Given the description of an element on the screen output the (x, y) to click on. 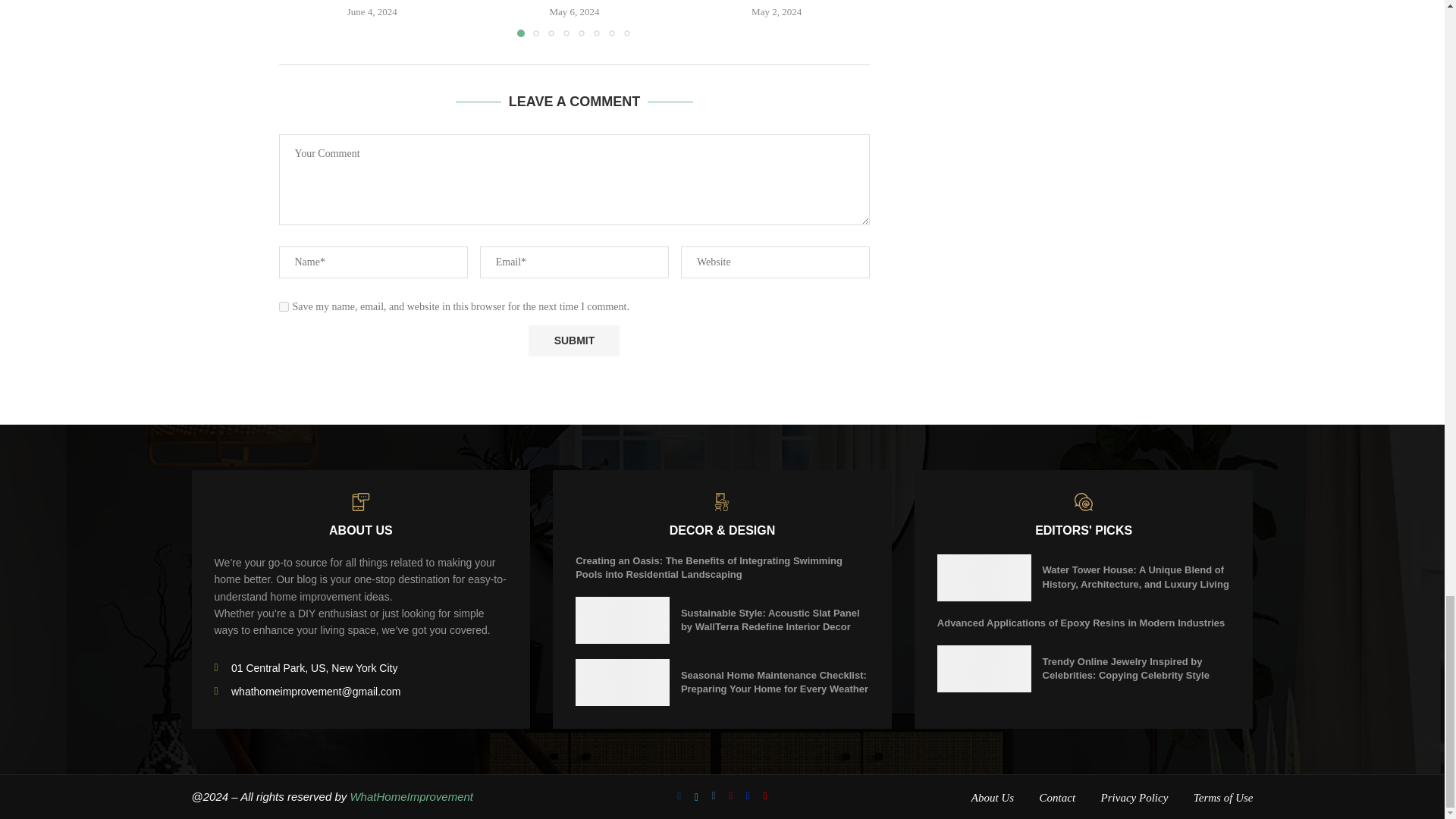
yes (283, 307)
Submit (574, 340)
